Given the description of an element on the screen output the (x, y) to click on. 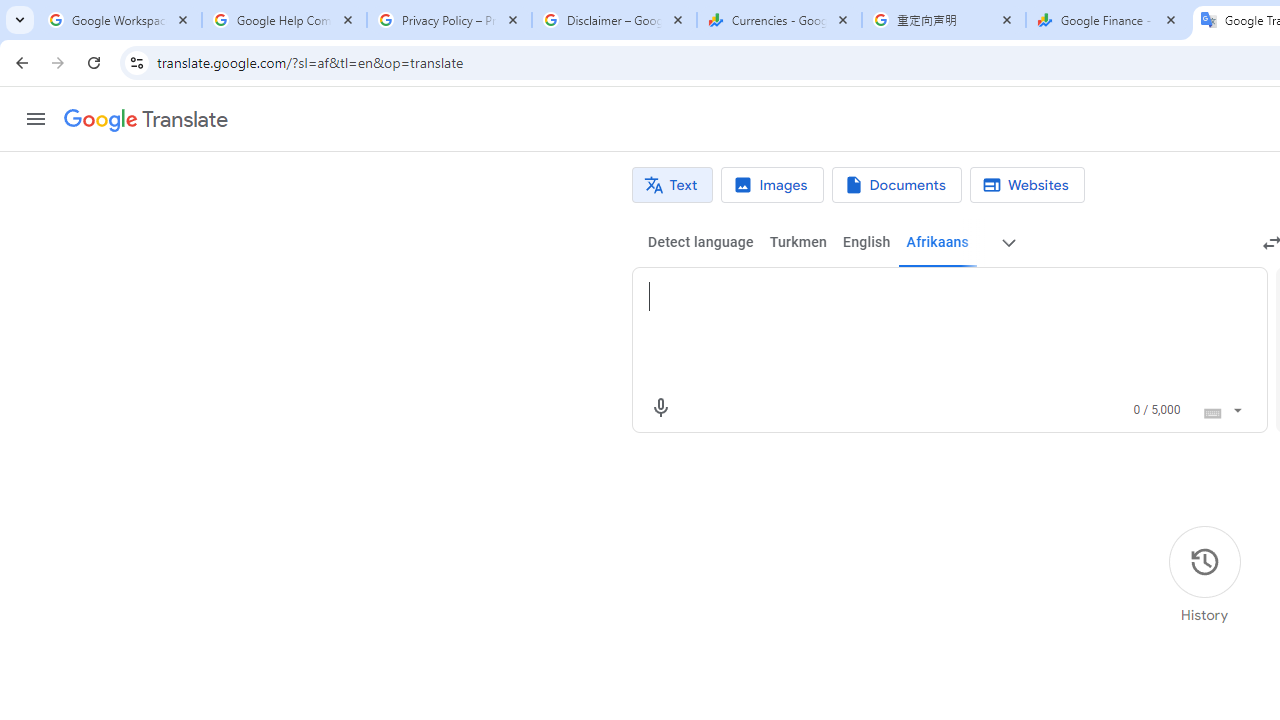
Show the Input Tools menu (1236, 407)
Image translation (772, 185)
0 of 5,000 characters used (1156, 410)
Afrikaans (937, 242)
Document translation (896, 185)
More source languages (1008, 242)
Detect language (699, 242)
Source text (930, 295)
